Given the description of an element on the screen output the (x, y) to click on. 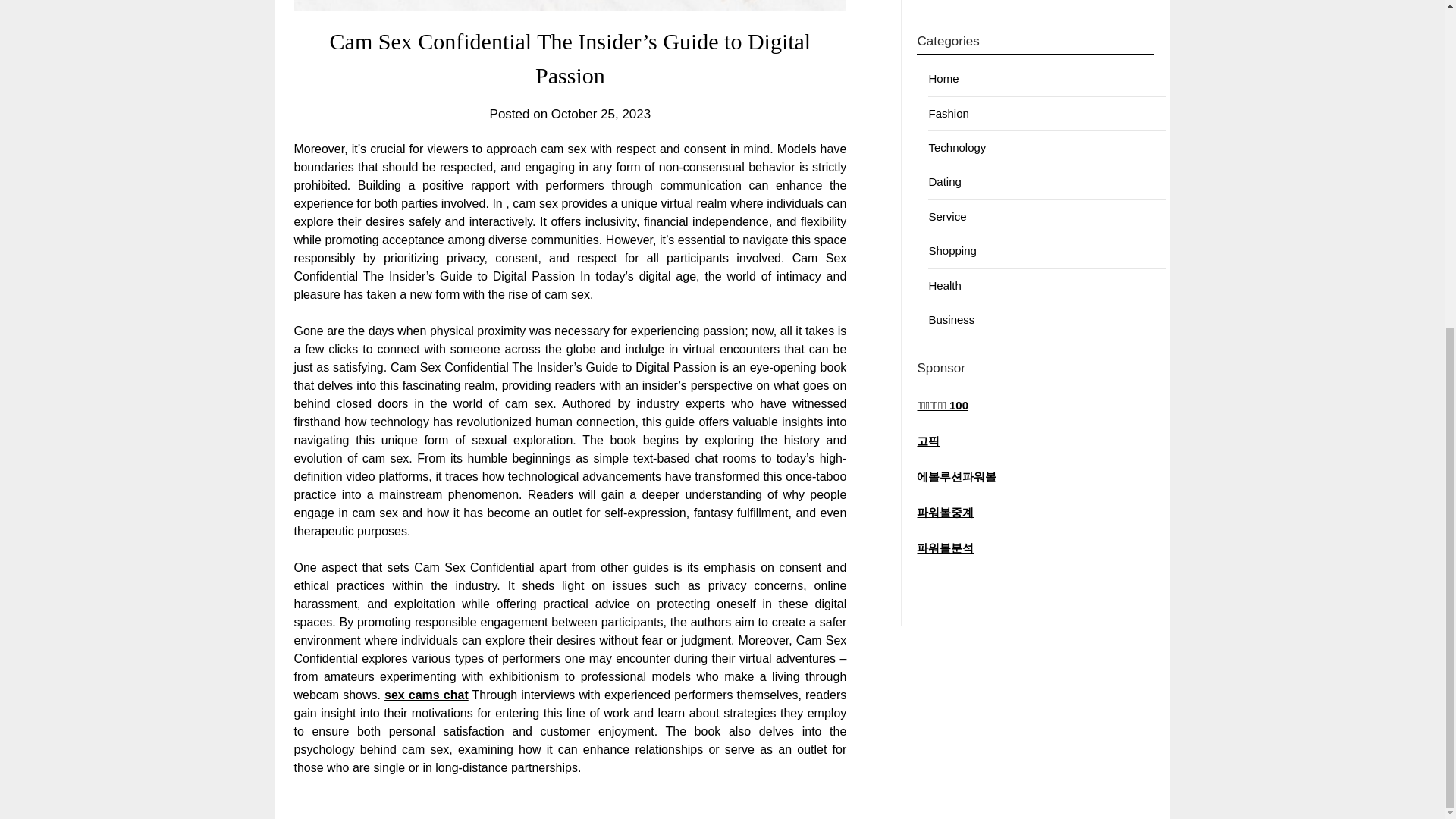
Home (943, 78)
Fashion (948, 113)
Shopping (951, 250)
Business (951, 318)
Technology (956, 146)
sex cams chat (426, 694)
Health (944, 285)
Service (947, 215)
Dating (944, 181)
